Given the description of an element on the screen output the (x, y) to click on. 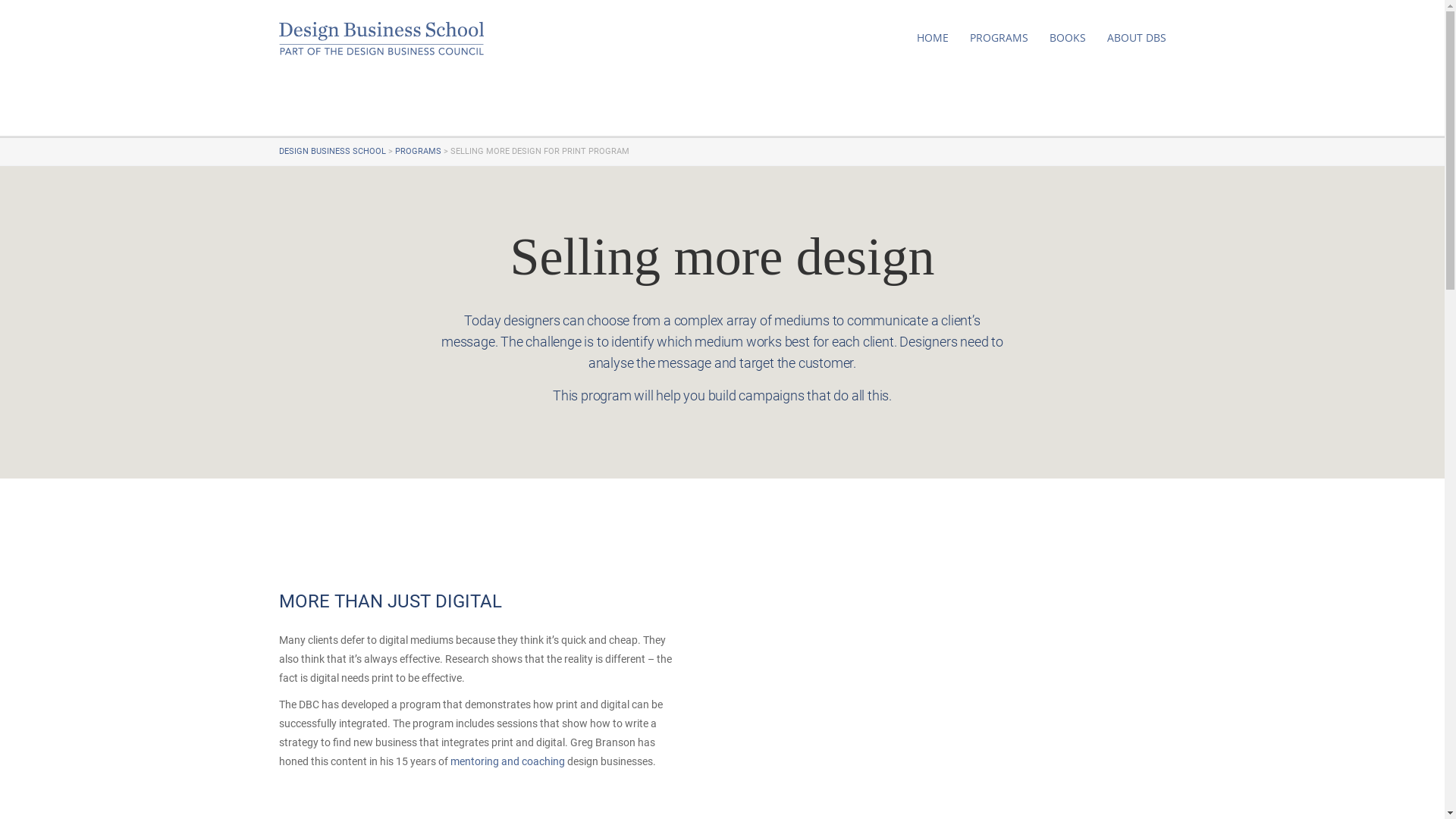
DESIGN BUSINESS SCHOOL Element type: text (332, 151)
BOOKS Element type: text (1067, 37)
PROGRAMS Element type: text (998, 37)
PROGRAMS Element type: text (417, 151)
ABOUT DBS Element type: text (1136, 37)
mentoring and coaching Element type: text (507, 761)
HOME Element type: text (931, 37)
